Given the description of an element on the screen output the (x, y) to click on. 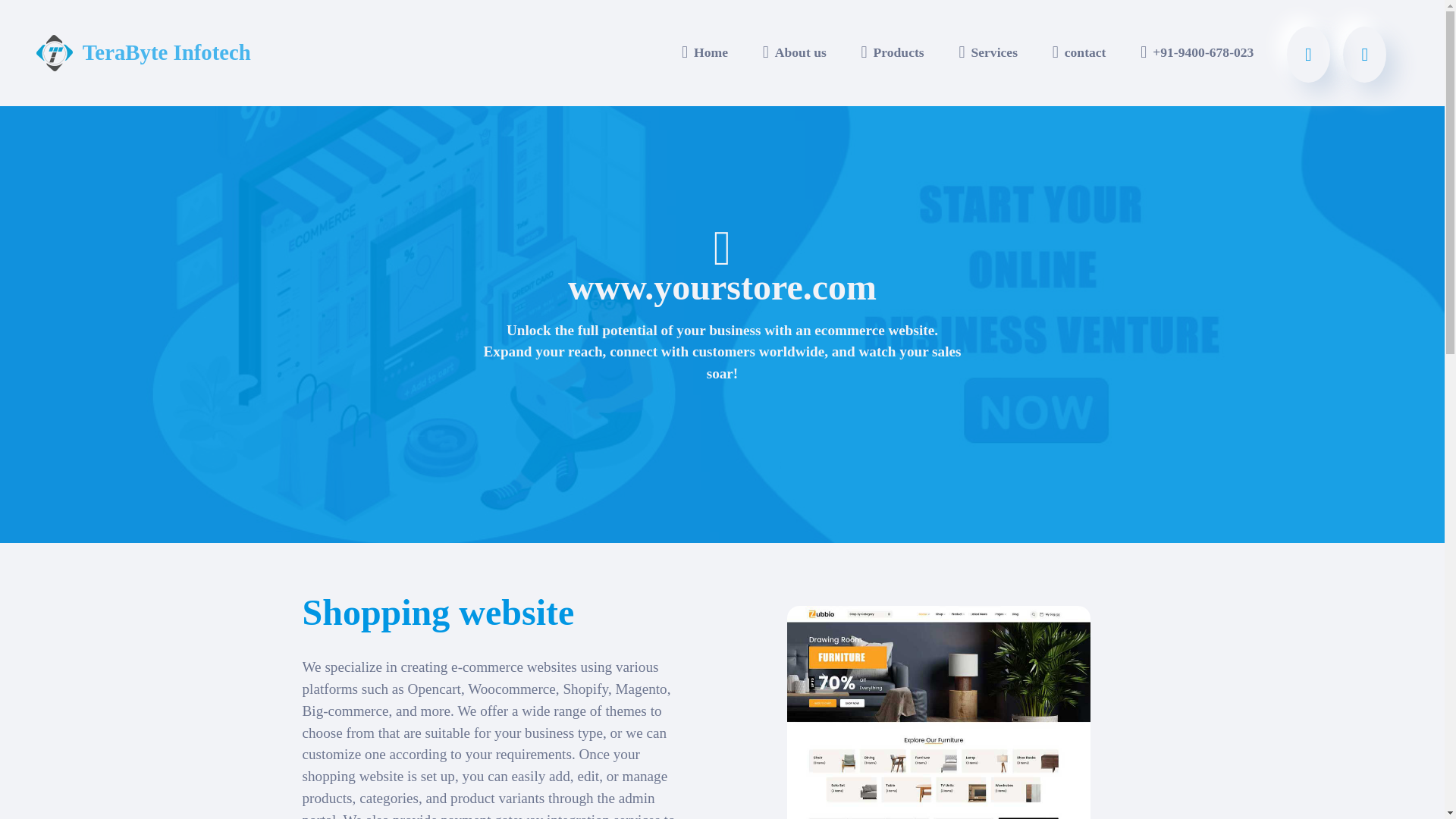
TeraByte Infotech (166, 52)
contact (1078, 52)
Home (705, 52)
Services (988, 52)
Products (892, 52)
About us (793, 52)
